Given the description of an element on the screen output the (x, y) to click on. 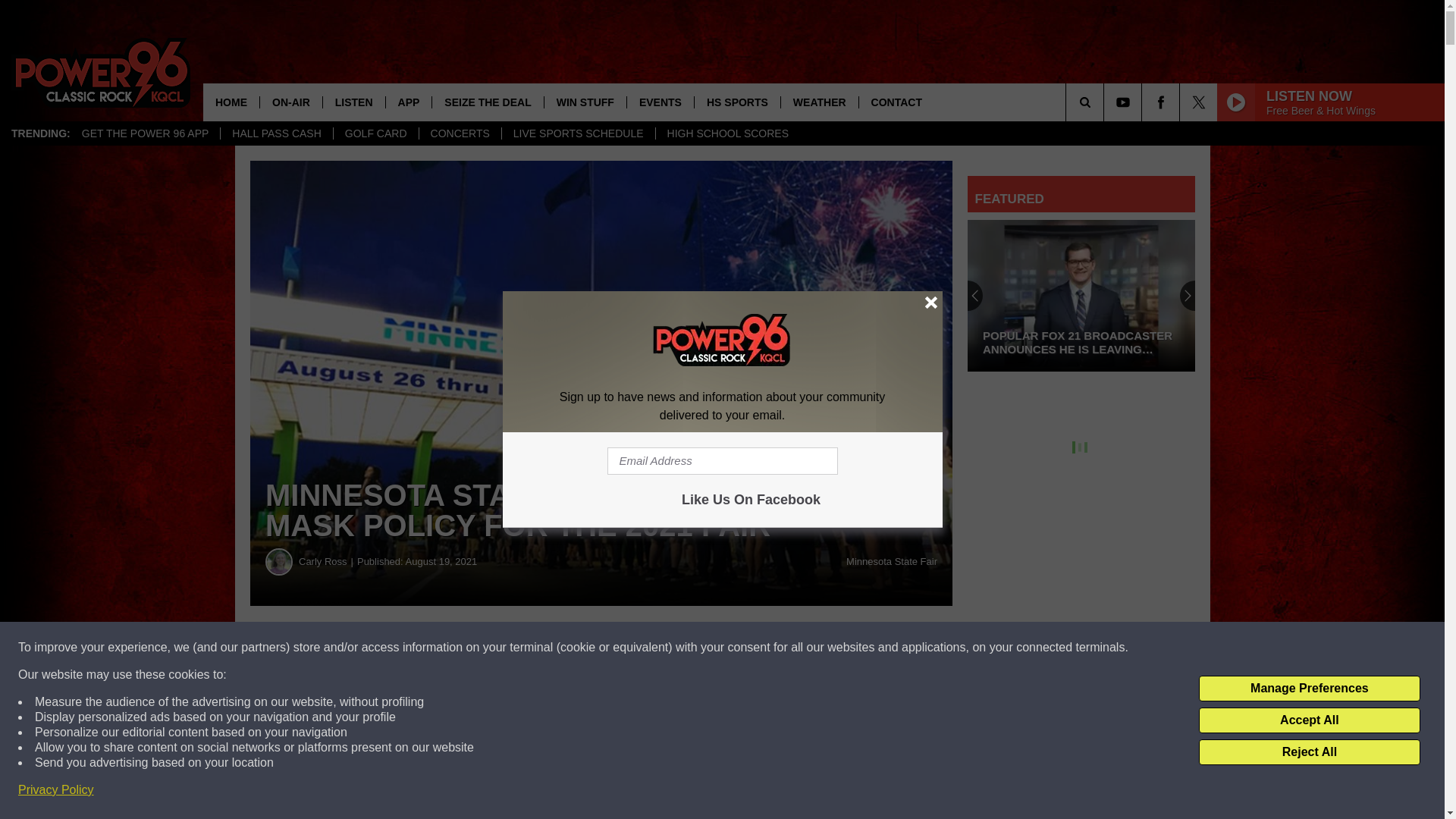
EVENTS (660, 102)
Share on Twitter (741, 647)
CONCERTS (459, 133)
Accept All (1309, 720)
HALL PASS CASH (276, 133)
SEARCH (1106, 102)
APP (408, 102)
HIGH SCHOOL SCORES (727, 133)
Privacy Policy (55, 789)
HOME (231, 102)
GOLF CARD (376, 133)
WIN STUFF (584, 102)
Share on Facebook (460, 647)
Reject All (1309, 751)
LIVE SPORTS SCHEDULE (577, 133)
